Given the description of an element on the screen output the (x, y) to click on. 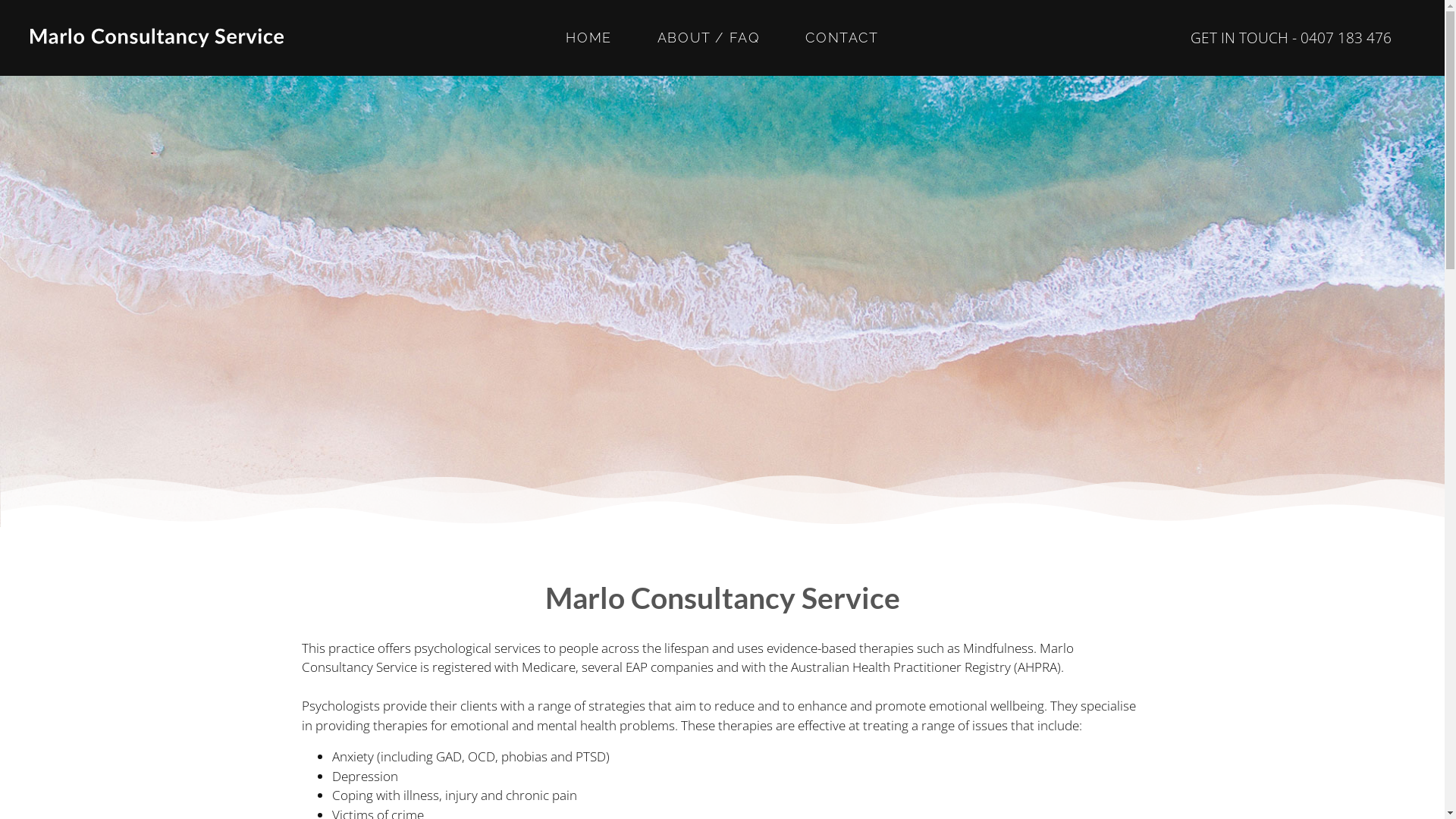
0407 183 476 Element type: text (1345, 37)
ABOUT / FAQ Element type: text (708, 37)
CONTACT Element type: text (841, 37)
HOME Element type: text (588, 37)
